Given the description of an element on the screen output the (x, y) to click on. 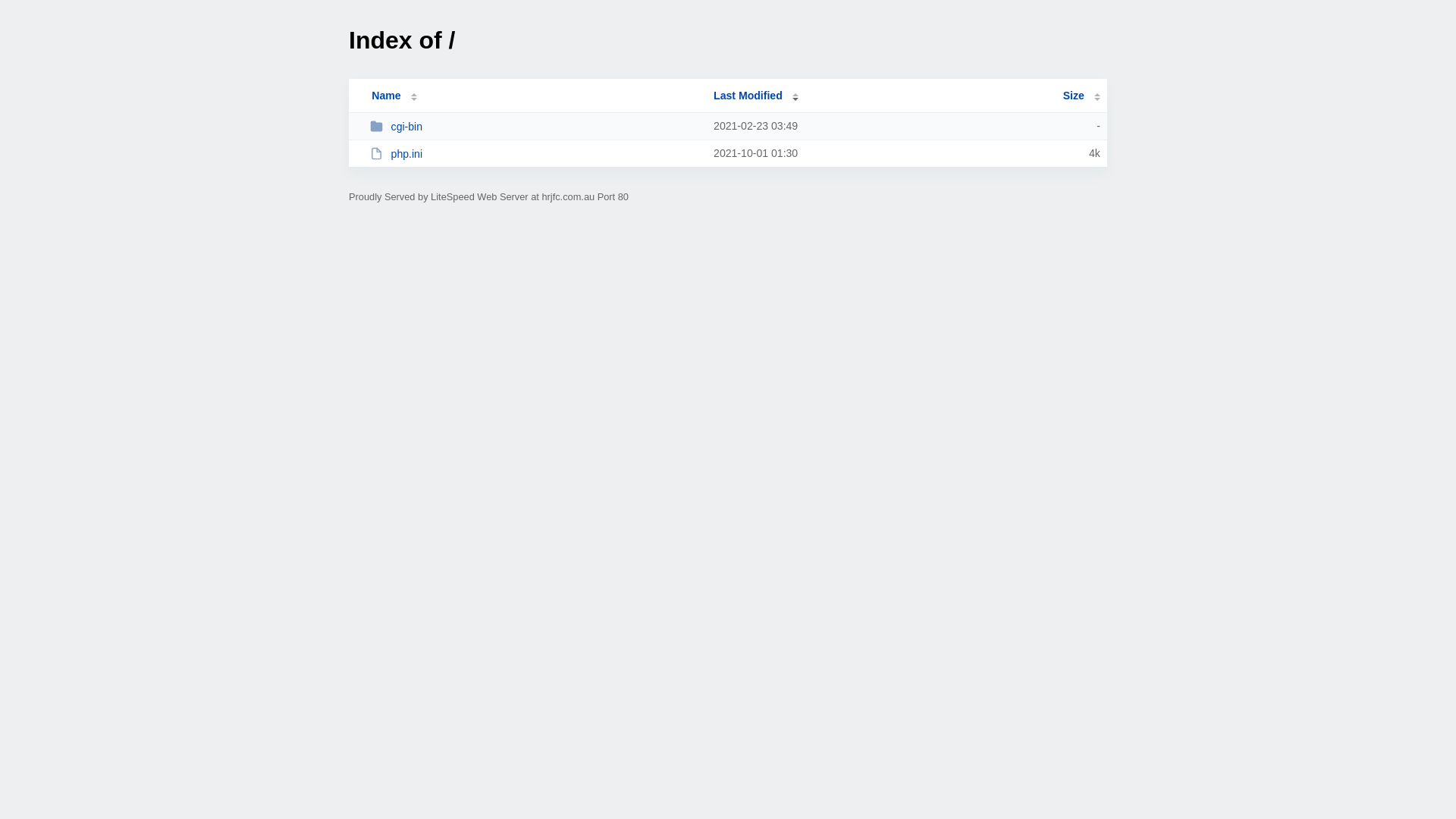
Size Element type: text (1081, 95)
cgi-bin Element type: text (534, 125)
Last Modified Element type: text (755, 95)
php.ini Element type: text (534, 153)
Name Element type: text (385, 95)
